Given the description of an element on the screen output the (x, y) to click on. 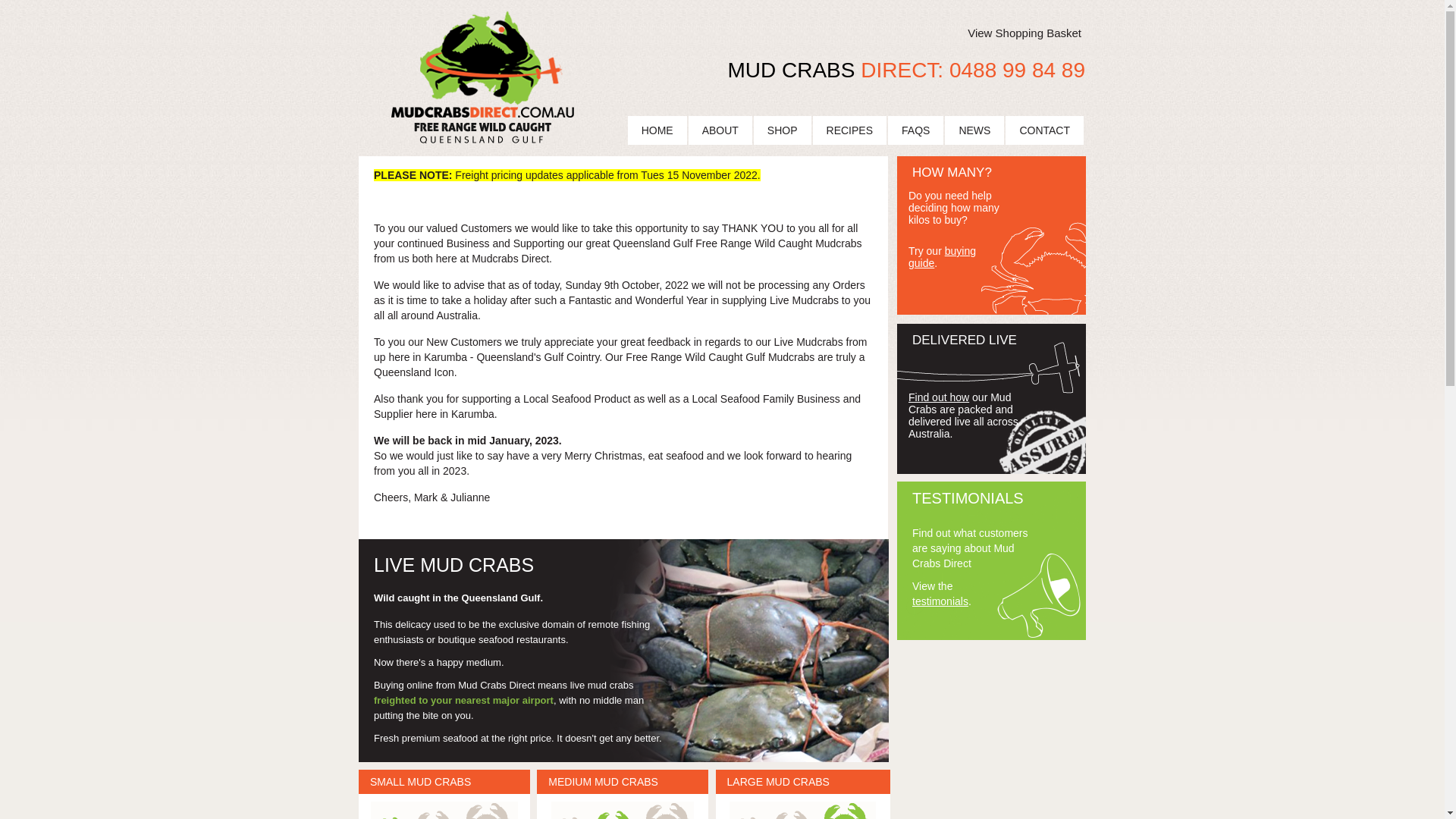
SHOP Element type: text (782, 130)
NEWS Element type: text (974, 130)
Mud Crabs Direct Logo Element type: hover (482, 77)
ABOUT Element type: text (720, 130)
testimonials Element type: text (940, 601)
Find out how Element type: text (938, 397)
buying guide Element type: text (941, 256)
HOME Element type: text (657, 130)
RECIPES Element type: text (849, 130)
CONTACT Element type: text (1044, 130)
View Shopping Basket Element type: text (1024, 32)
FAQS Element type: text (915, 130)
freighted to your nearest major airport Element type: text (463, 700)
